Given the description of an element on the screen output the (x, y) to click on. 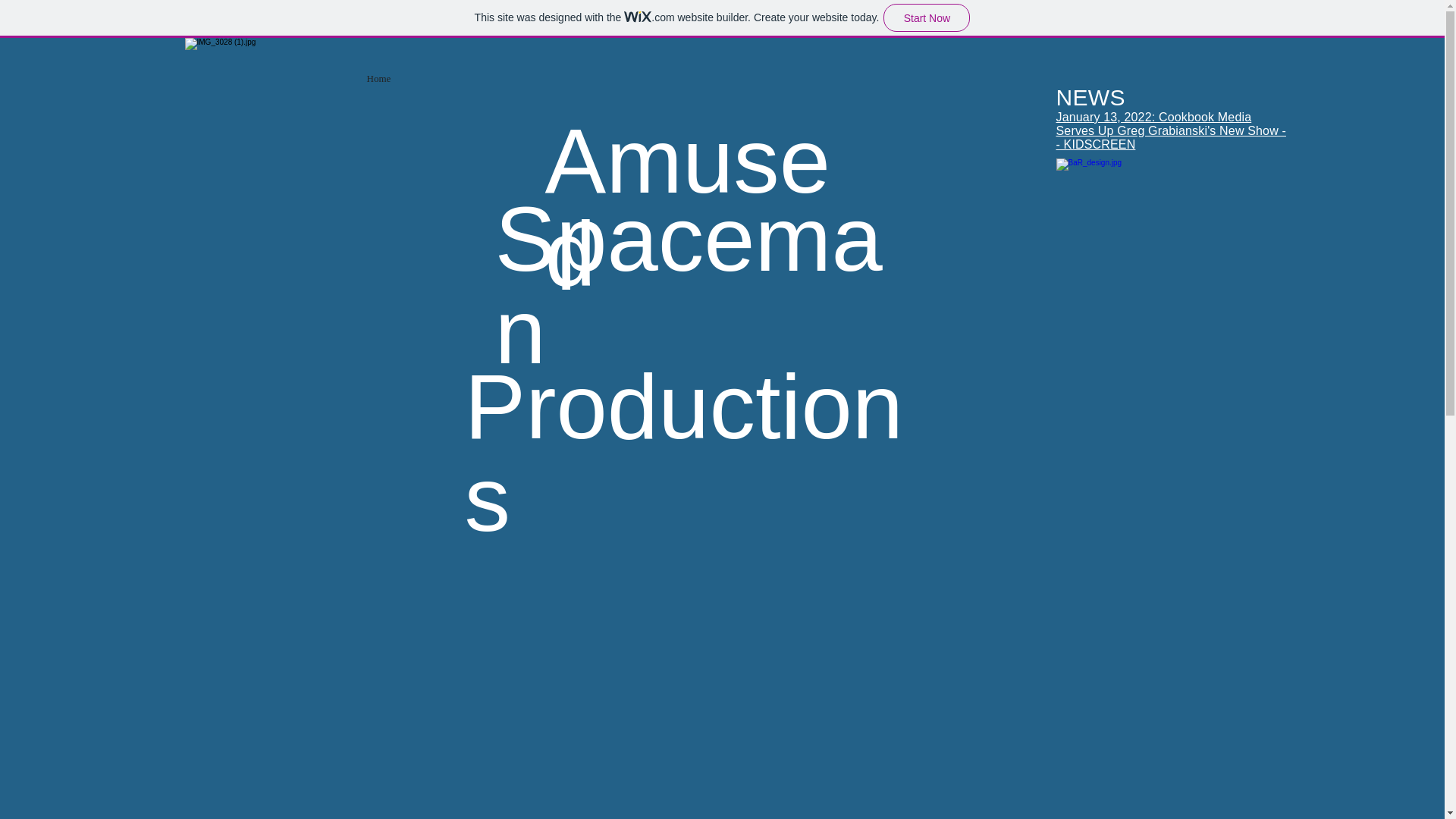
Home (379, 78)
